Given the description of an element on the screen output the (x, y) to click on. 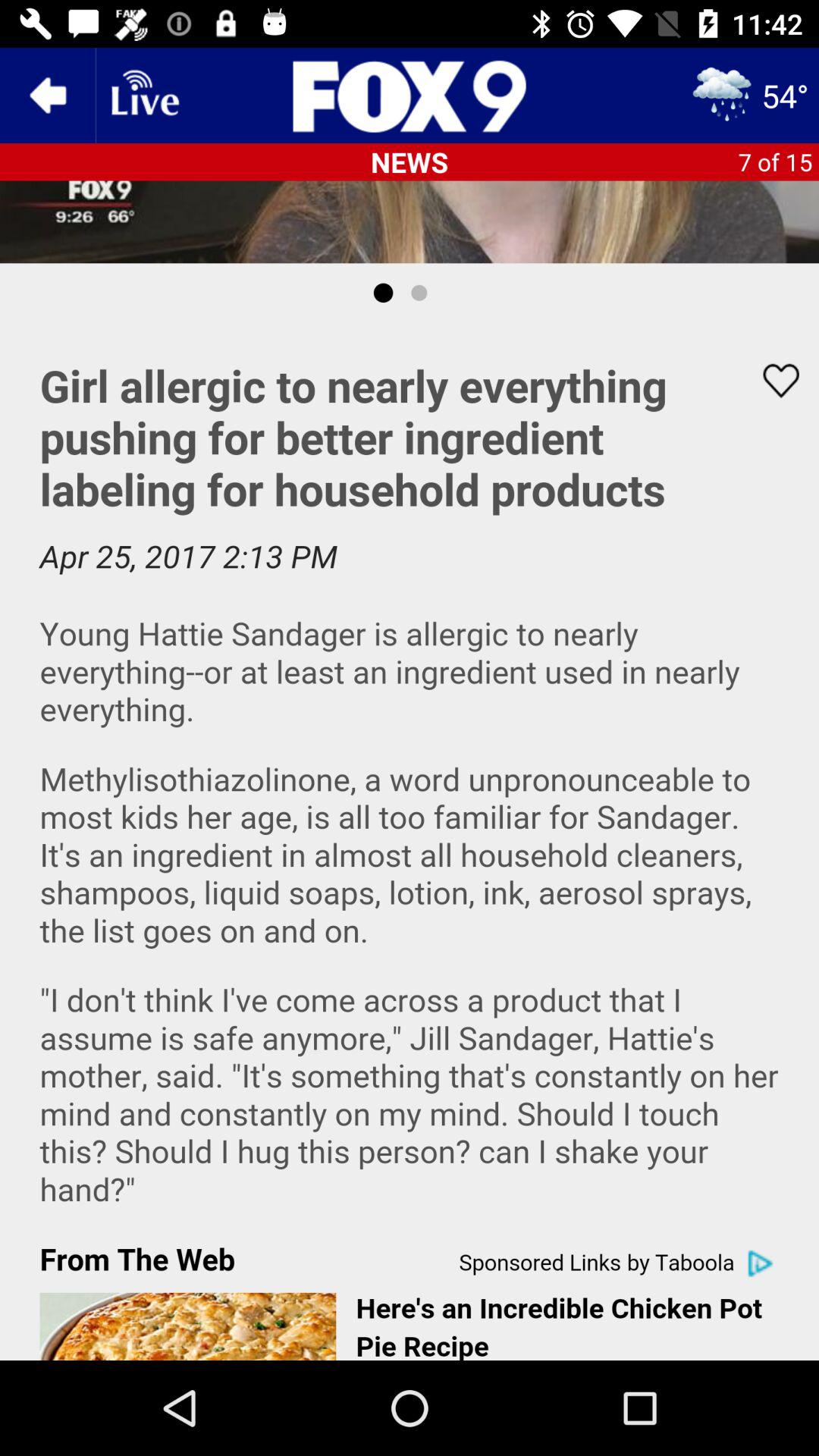
description page (409, 841)
